Given the description of an element on the screen output the (x, y) to click on. 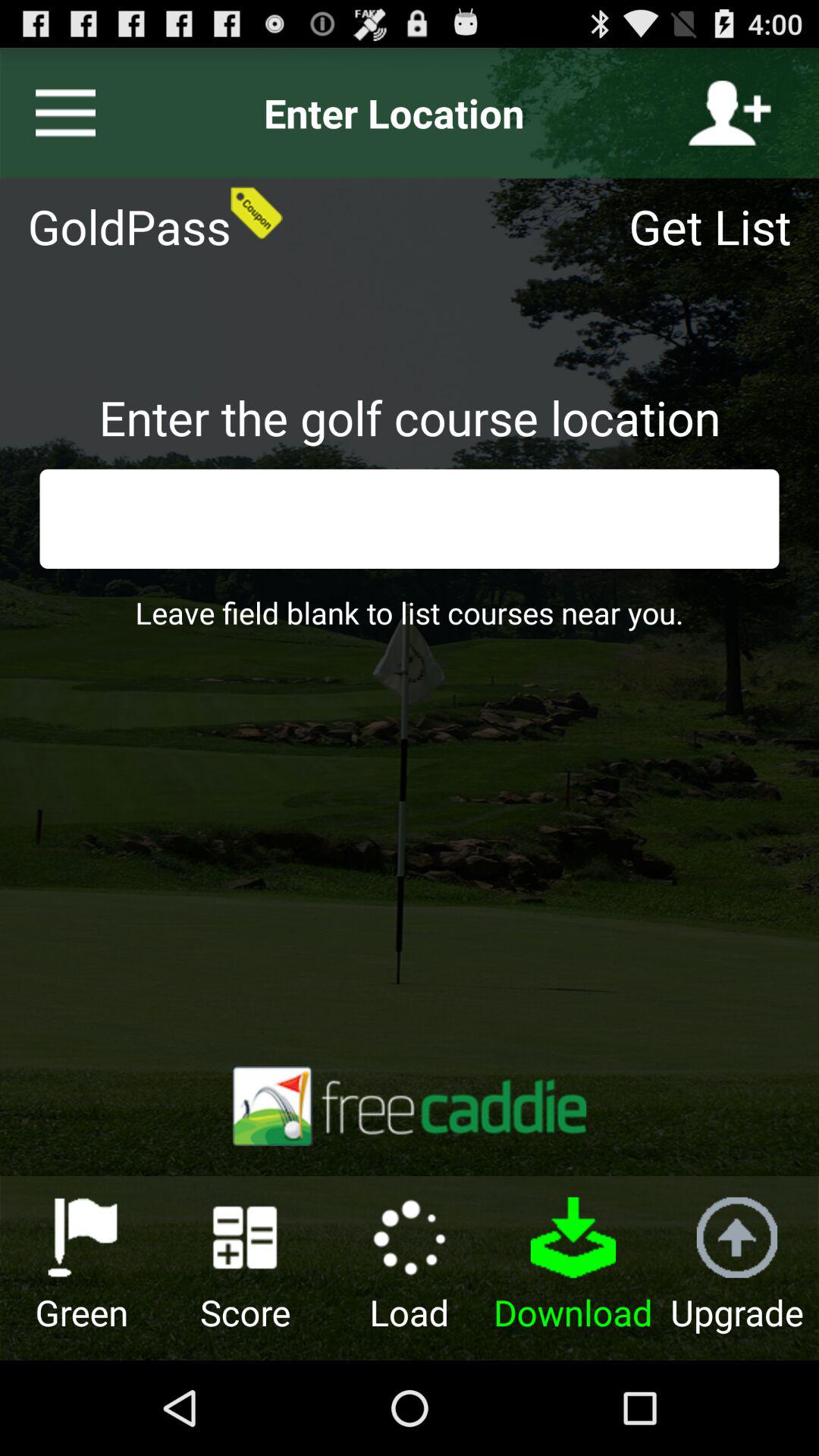
select the icon to the left of the enter location item (59, 112)
